Given the description of an element on the screen output the (x, y) to click on. 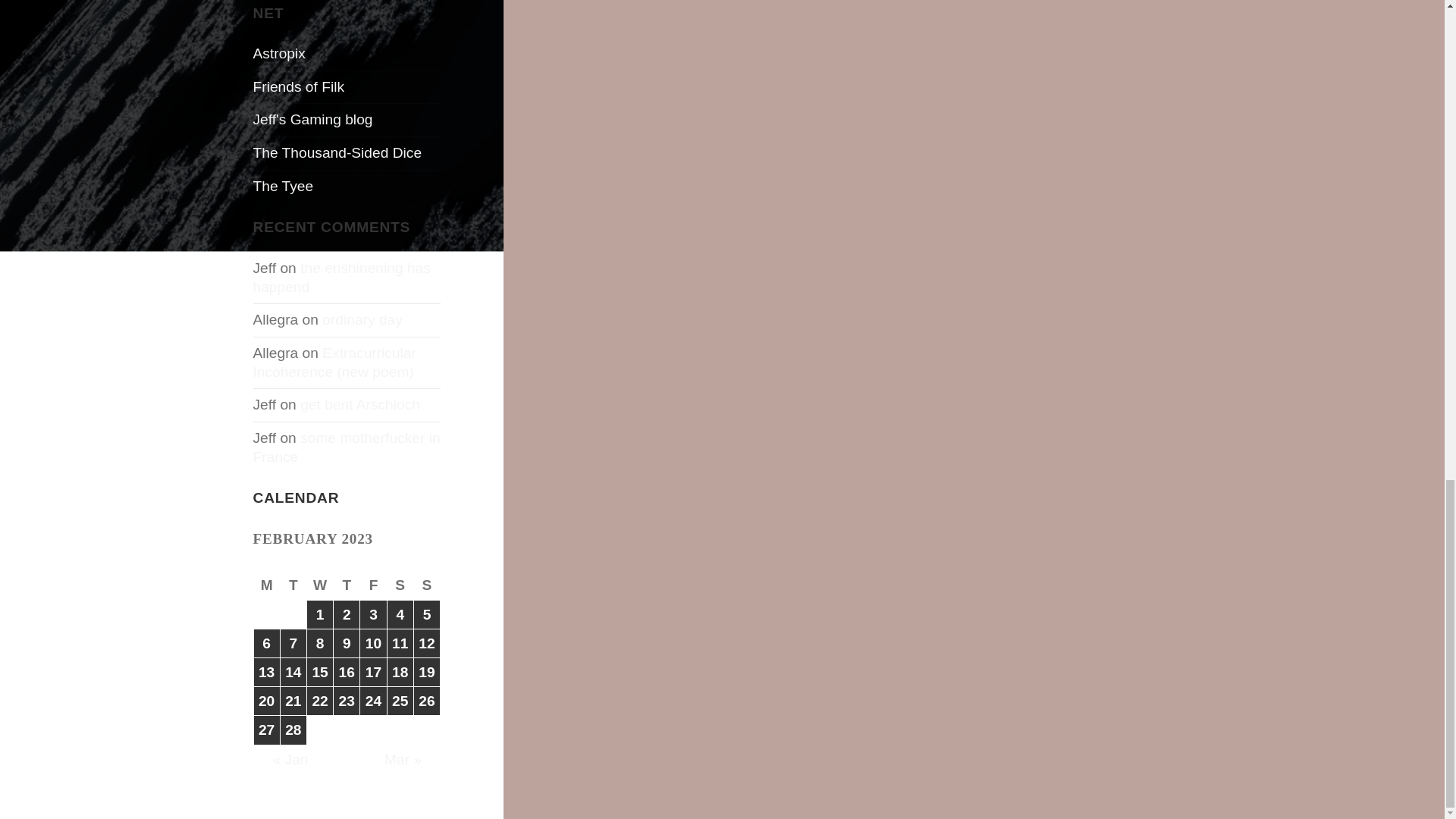
ordinary day (362, 319)
4 (400, 614)
Monday (267, 584)
15 (320, 672)
some motherfucker in France (347, 447)
5 (426, 614)
Saturday (400, 584)
The Tyee (283, 186)
Friday (373, 584)
Astropix (279, 53)
